Given the description of an element on the screen output the (x, y) to click on. 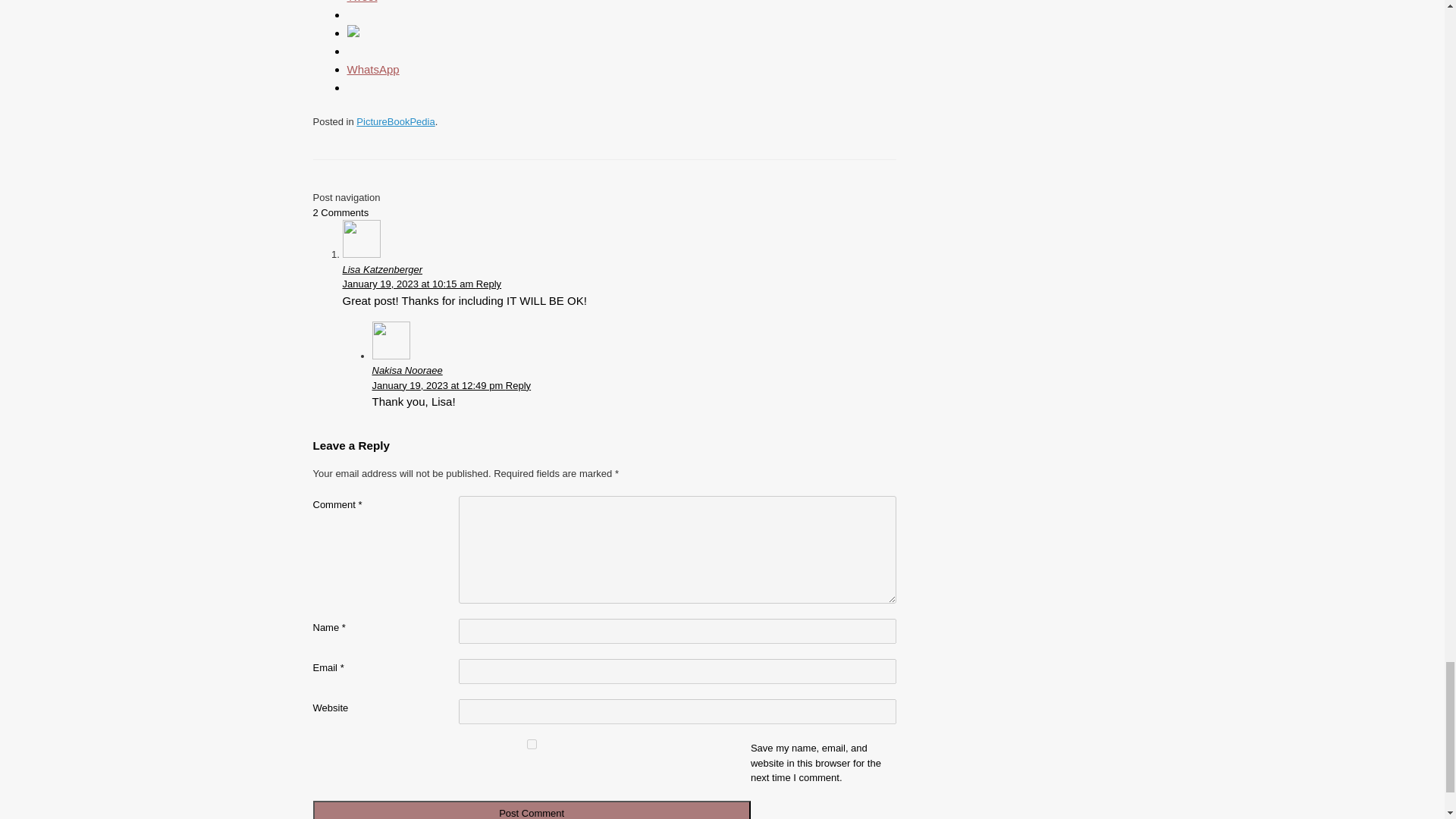
Reply (488, 283)
Tweet (362, 1)
yes (531, 744)
Post Comment (531, 809)
Post Comment (531, 809)
January 19, 2023 at 10:15 am (409, 283)
Lisa Katzenberger (382, 269)
Nakisa Nooraee (406, 369)
January 19, 2023 at 12:49 pm (438, 385)
Reply (518, 385)
